Given the description of an element on the screen output the (x, y) to click on. 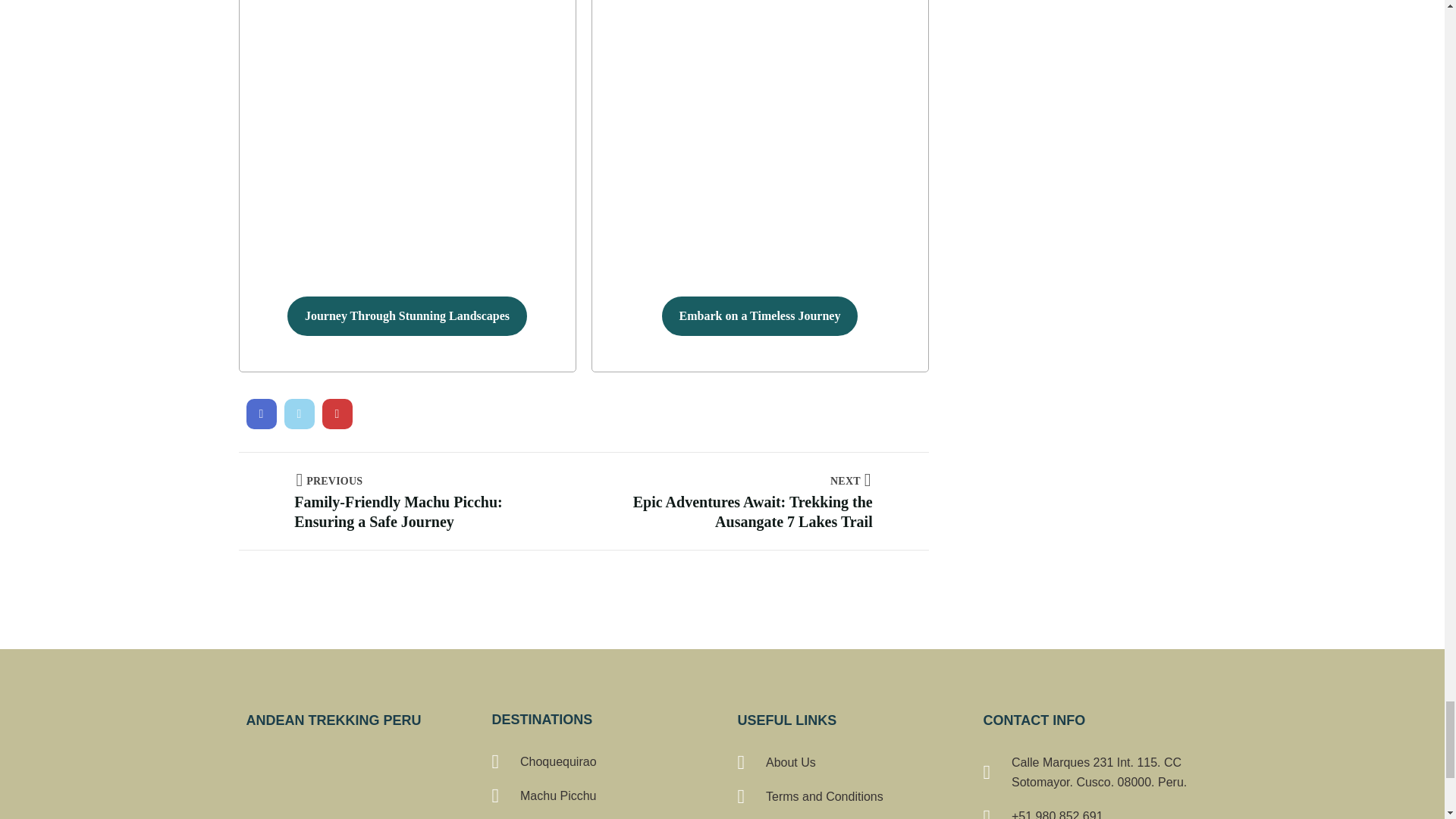
The Secret Path: Less Crowds on the Palccoyo Trek (261, 413)
The Secret Path: Less Crowds on the Palccoyo Trek (298, 413)
The Secret Path: Less Crowds on the Palccoyo Trek (336, 413)
